Given the description of an element on the screen output the (x, y) to click on. 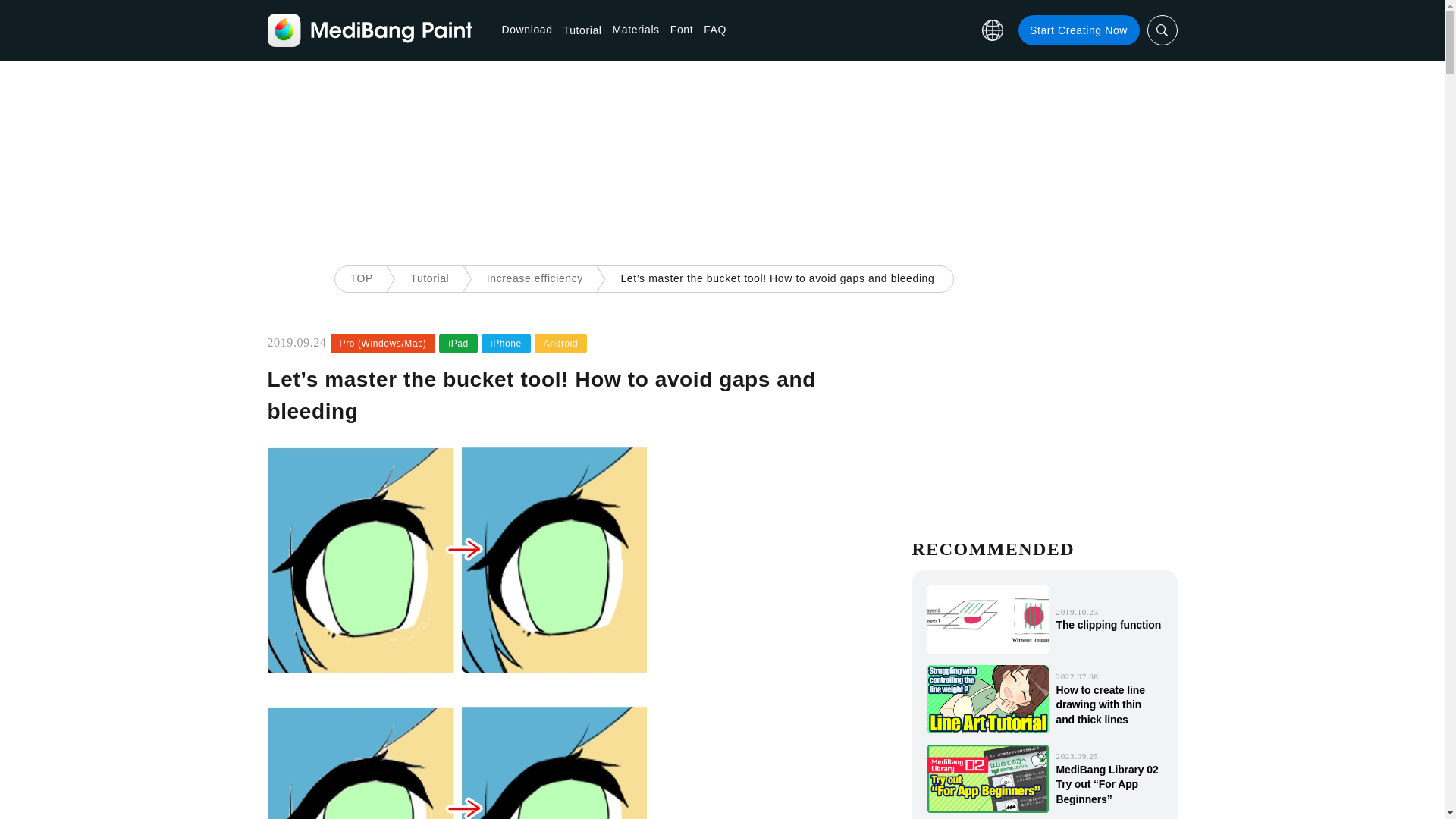
FAQ (714, 29)
Materials (635, 29)
Download (527, 29)
Font (681, 29)
Start Creating Now (1077, 30)
